Given the description of an element on the screen output the (x, y) to click on. 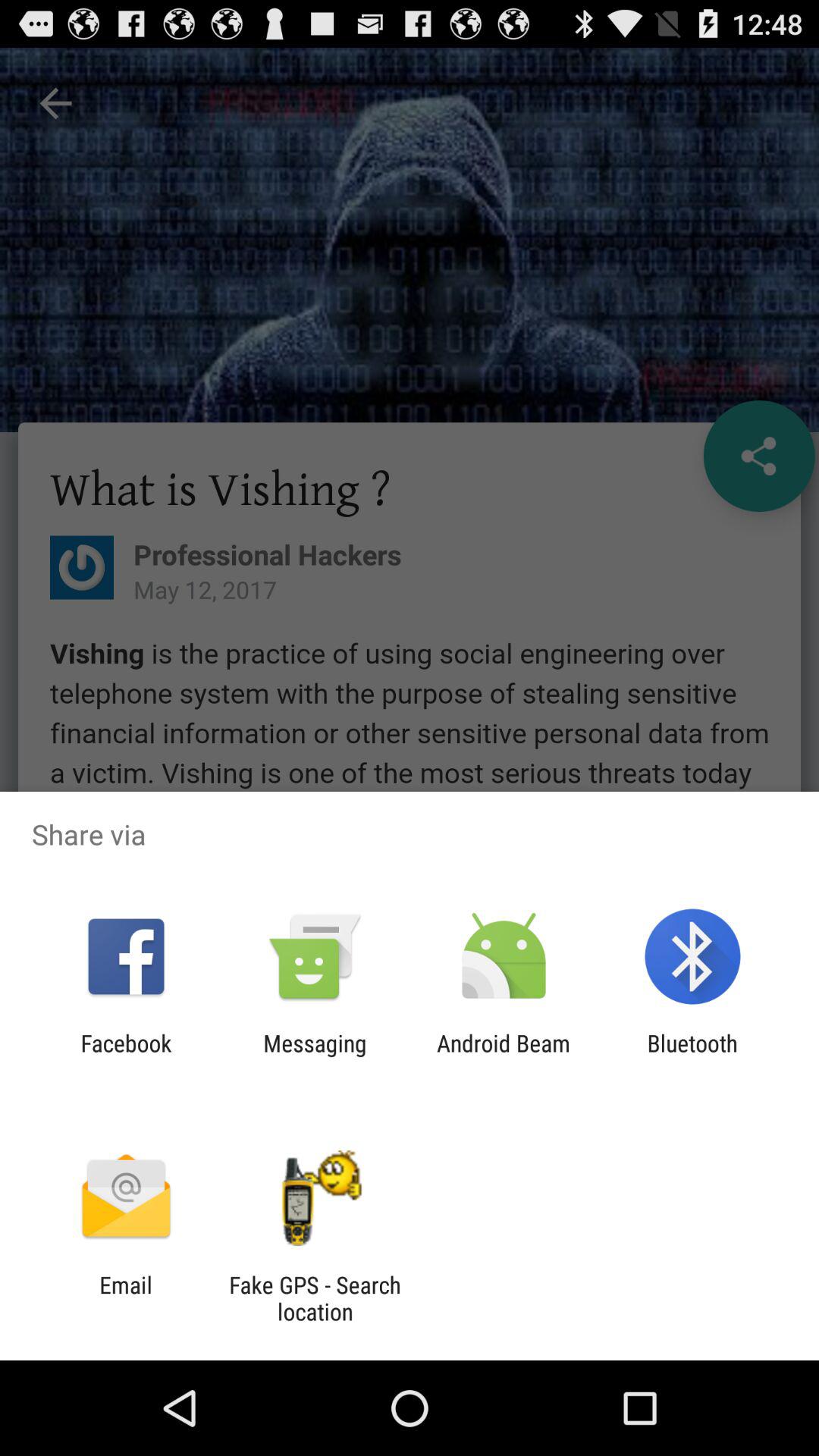
choose item next to messaging app (125, 1056)
